Given the description of an element on the screen output the (x, y) to click on. 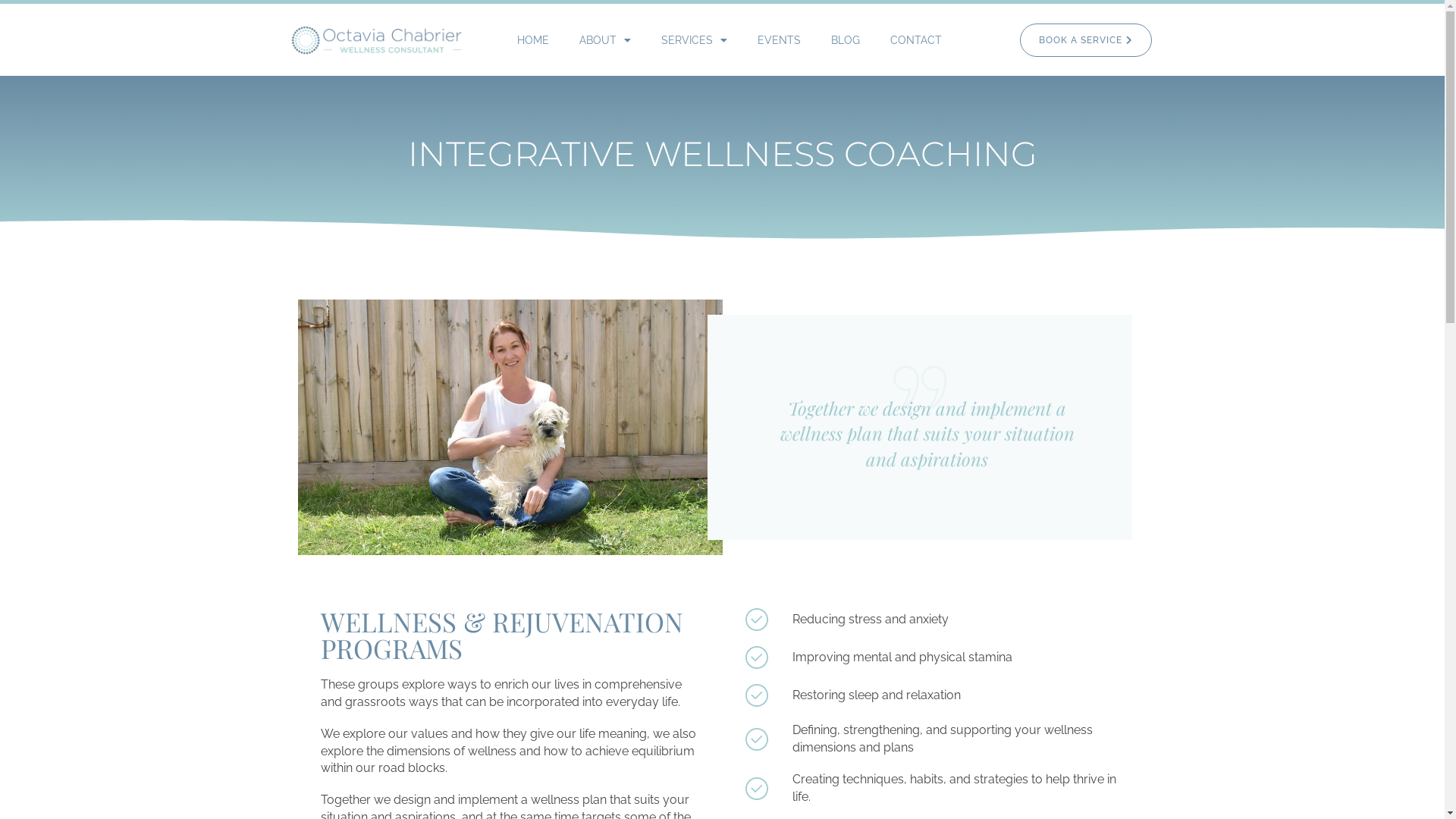
BLOG Element type: text (845, 39)
SERVICES Element type: text (694, 39)
HOME Element type: text (533, 39)
BOOK A SERVICE Element type: text (1085, 39)
EVENTS Element type: text (778, 39)
CONTACT Element type: text (916, 39)
ABOUT Element type: text (605, 39)
